Given the description of an element on the screen output the (x, y) to click on. 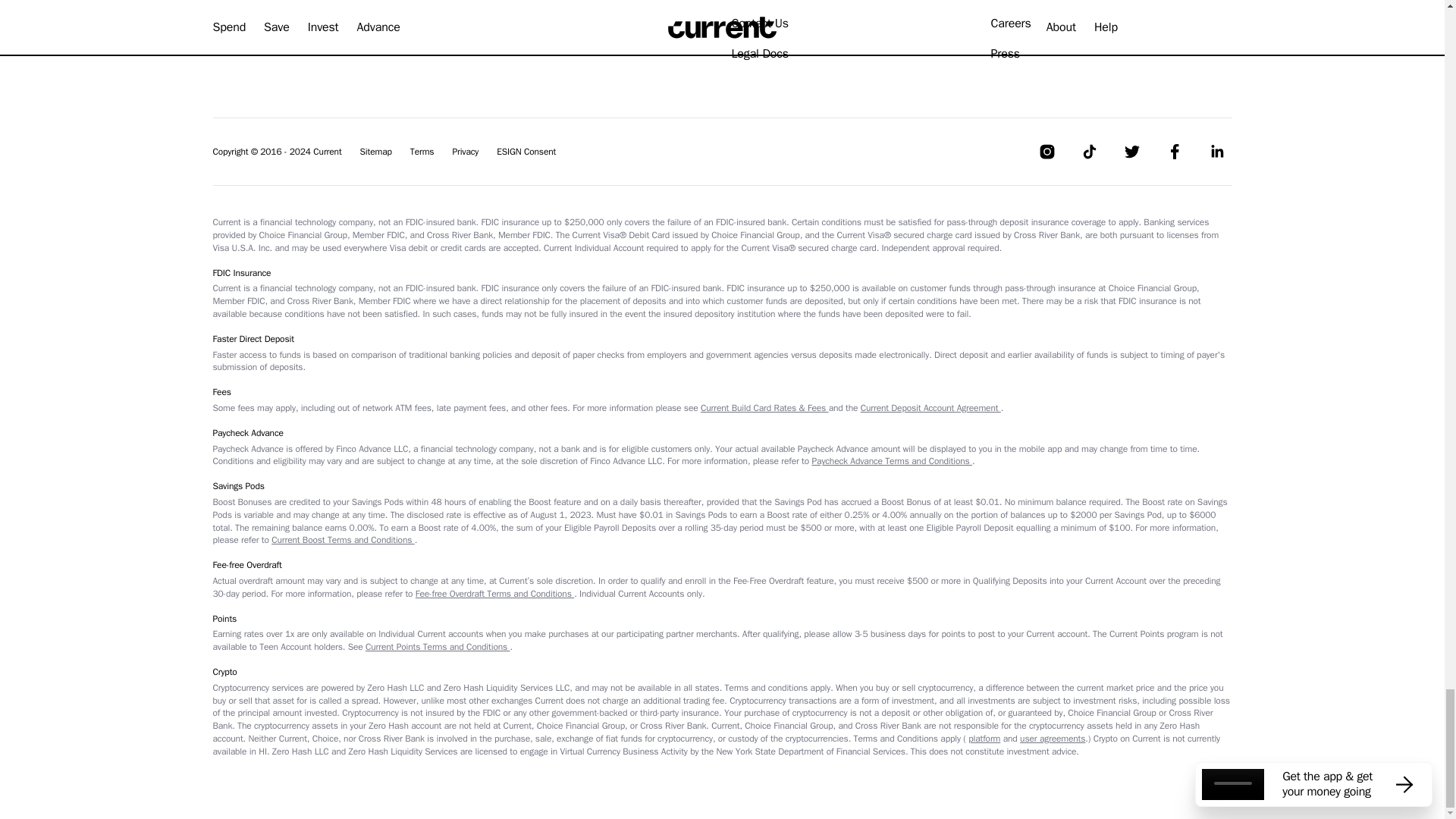
Link to Current's tiktok (1088, 151)
Link to Current's linkedin (1216, 151)
Link to Current's facebook (1173, 151)
Link to Current's instagram (1045, 151)
Contact Us (758, 23)
Link to Current's twitter (1131, 151)
Blog (742, 0)
